Given the description of an element on the screen output the (x, y) to click on. 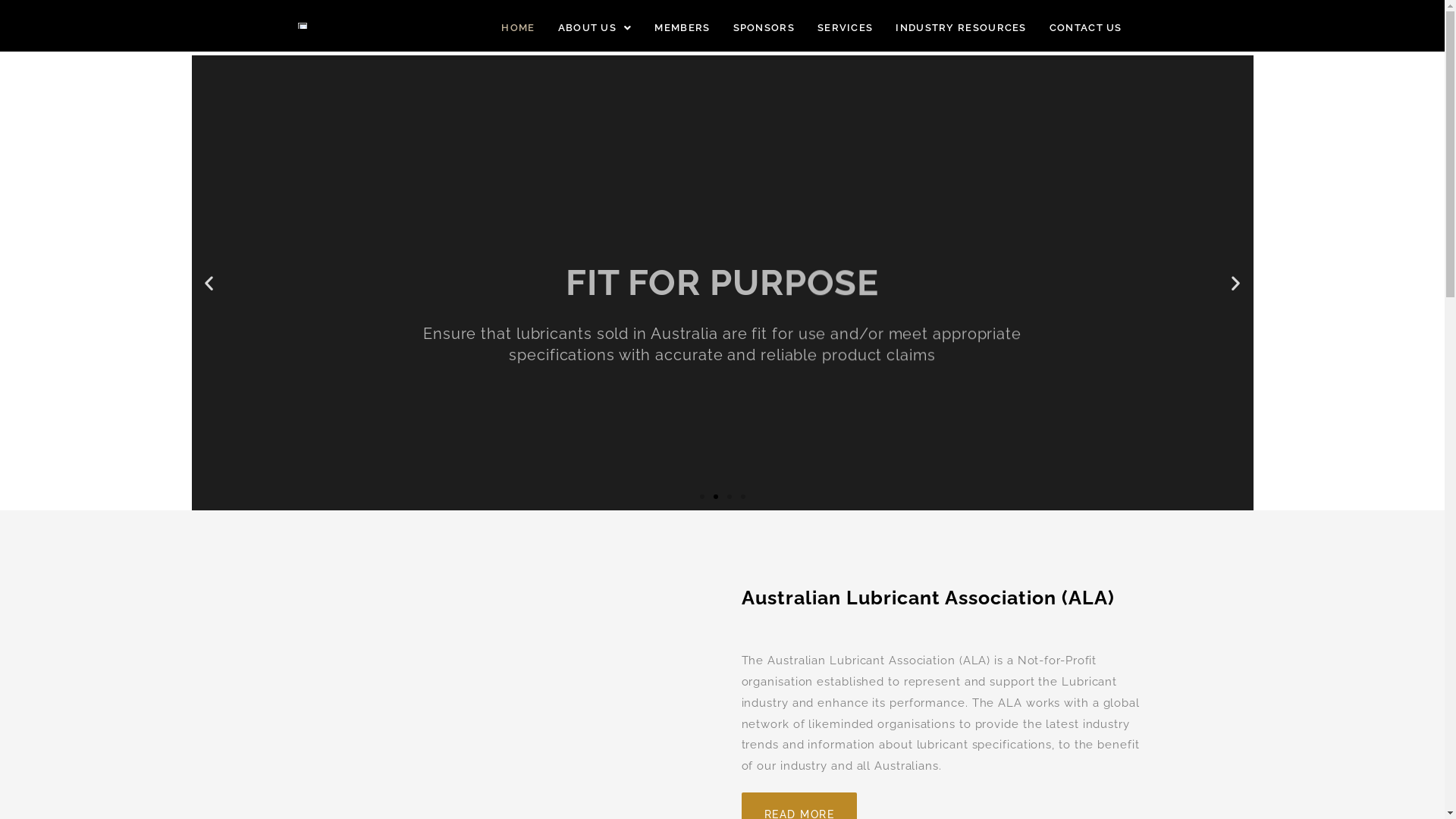
SERVICES Element type: text (845, 27)
ABOUT US Element type: text (594, 27)
INDUSTRY RESOURCES Element type: text (960, 27)
MEMBERS Element type: text (682, 27)
HOME Element type: text (517, 27)
SPONSORS Element type: text (763, 27)
CONTACT US Element type: text (1085, 27)
